Given the description of an element on the screen output the (x, y) to click on. 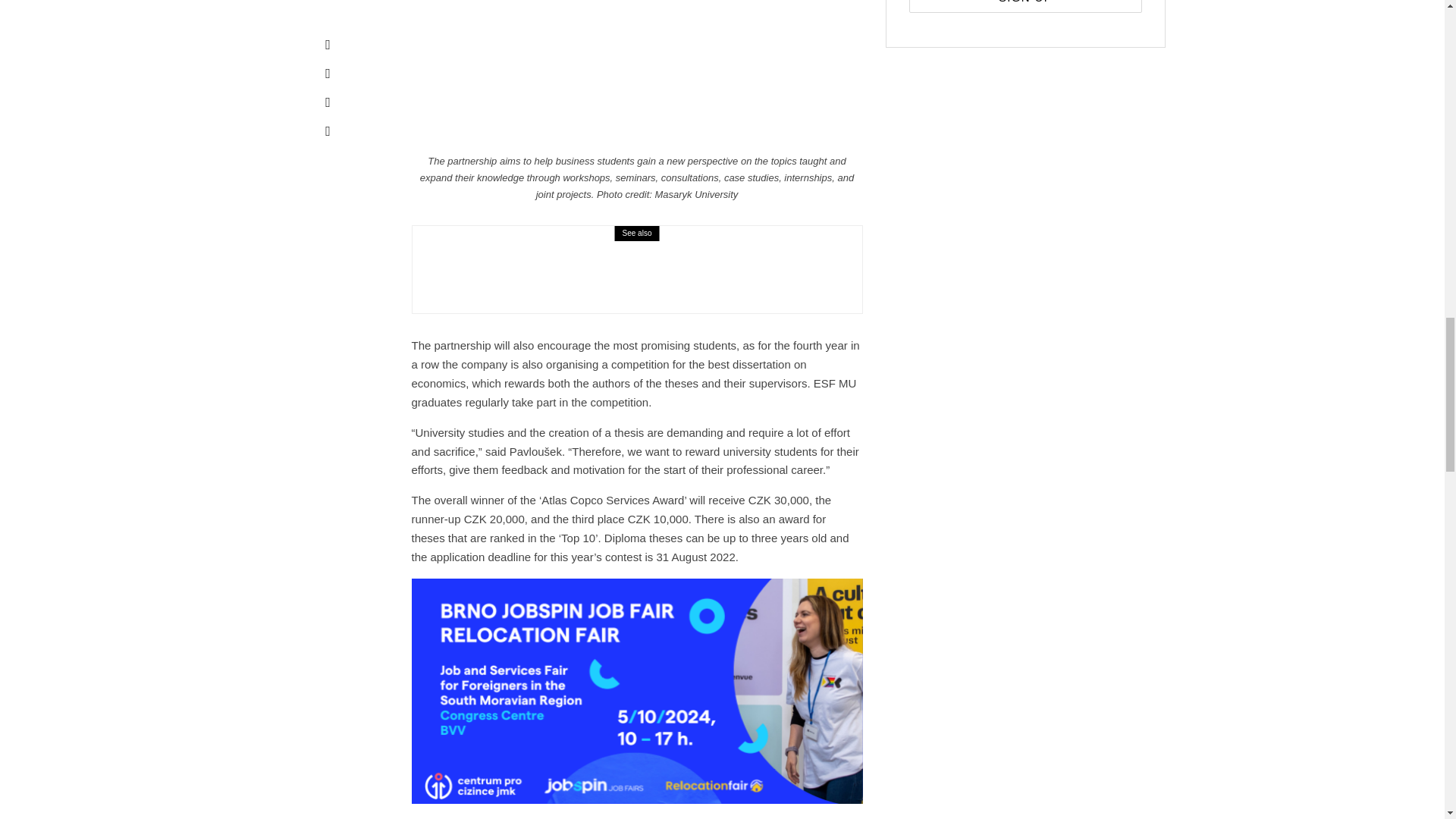
Sign up (1024, 6)
